Given the description of an element on the screen output the (x, y) to click on. 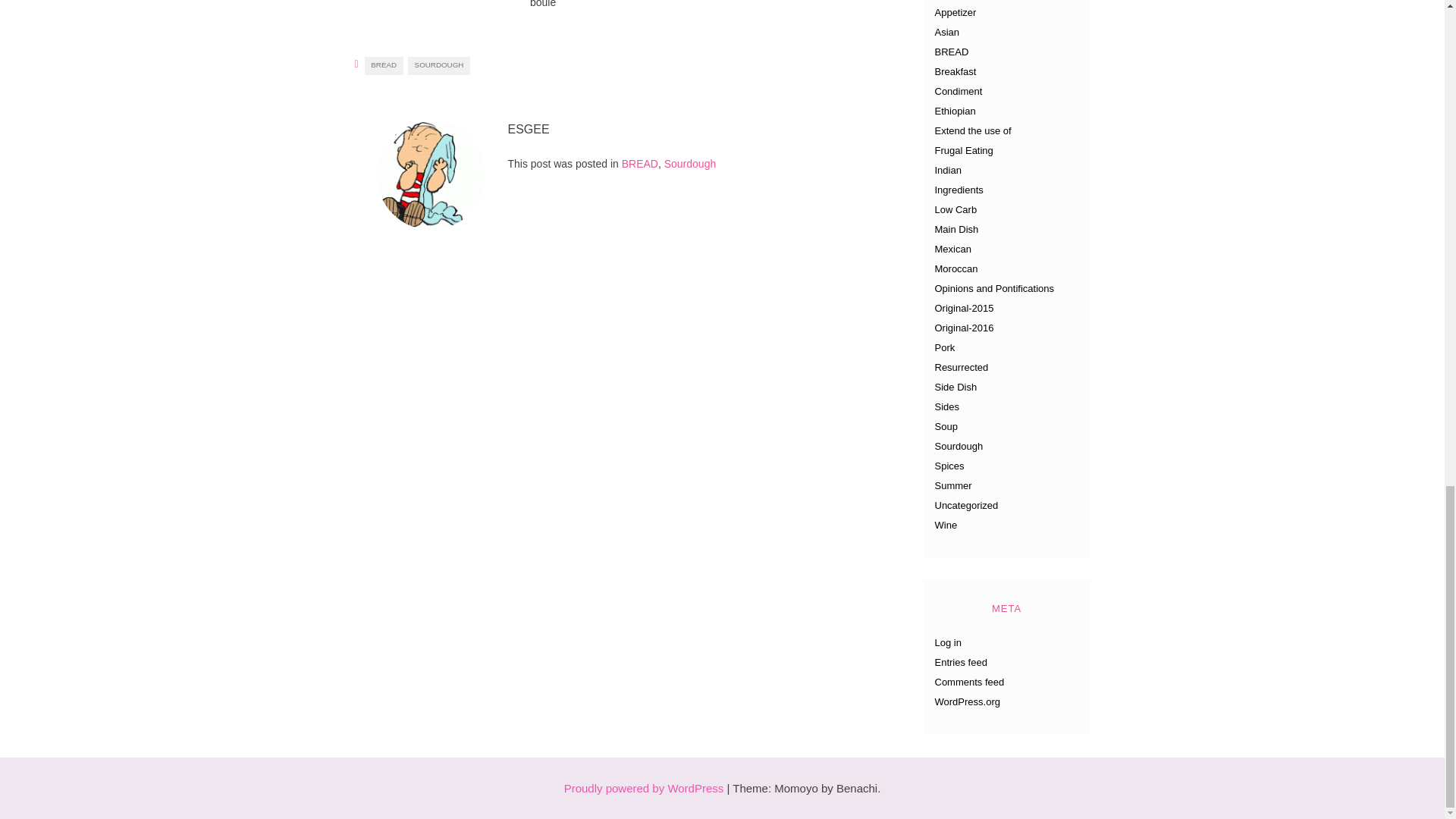
SOURDOUGH (438, 65)
Low Carb (955, 209)
Ingredients (958, 189)
BREAD (639, 163)
Condiment (957, 91)
Mexican (952, 248)
Main Dish (956, 229)
Moroccan (955, 268)
Asian (946, 31)
Sourdough (689, 163)
BREAD (384, 65)
Ethiopian (954, 111)
Appetizer (954, 12)
Frugal Eating (963, 150)
Indian (947, 170)
